Given the description of an element on the screen output the (x, y) to click on. 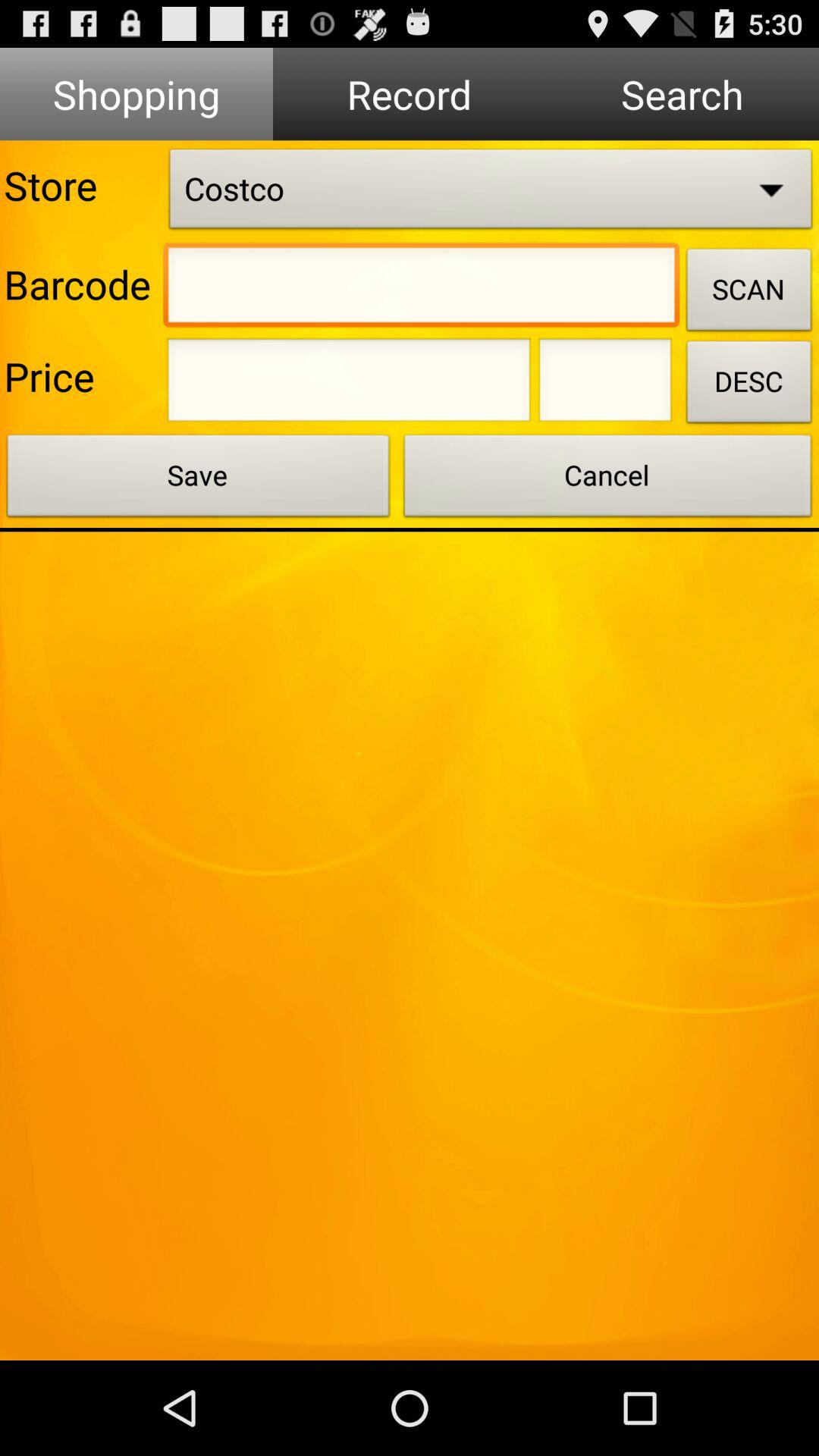
description box (604, 384)
